Given the description of an element on the screen output the (x, y) to click on. 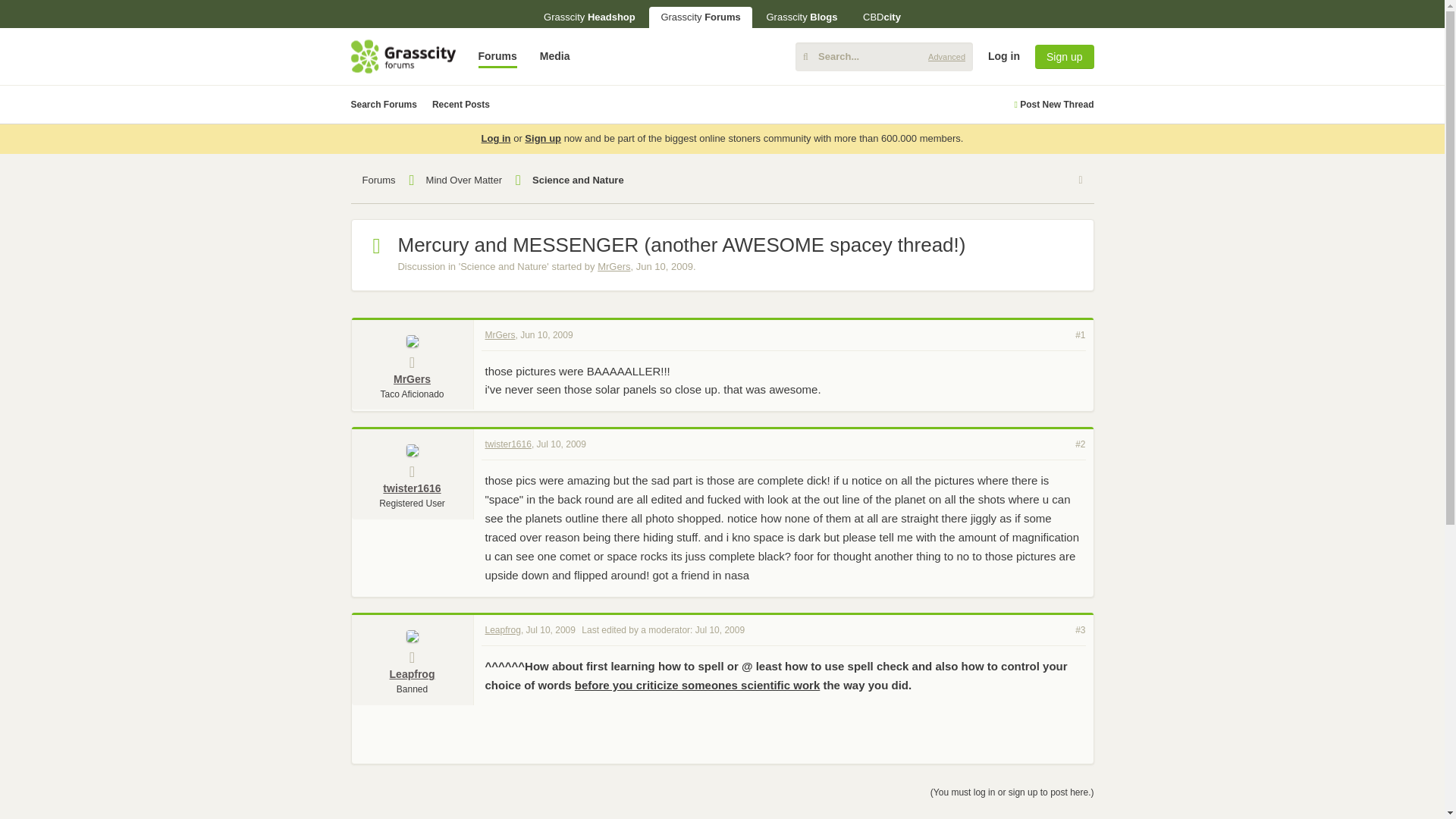
Log in (1316, 172)
Forums (497, 56)
Advanced (946, 56)
Recent Posts (460, 104)
Grasscity Headshop (589, 16)
Grasscity Blogs (801, 16)
Jun 10, 2009 at 9:26 AM (664, 266)
Search Forums (383, 104)
Grasscity Forums (700, 16)
CBDcity (881, 16)
Enter your search and hit enter (883, 56)
Post New Thread (1053, 104)
Permalink (545, 334)
Sign up (1064, 56)
Media (554, 56)
